Given the description of an element on the screen output the (x, y) to click on. 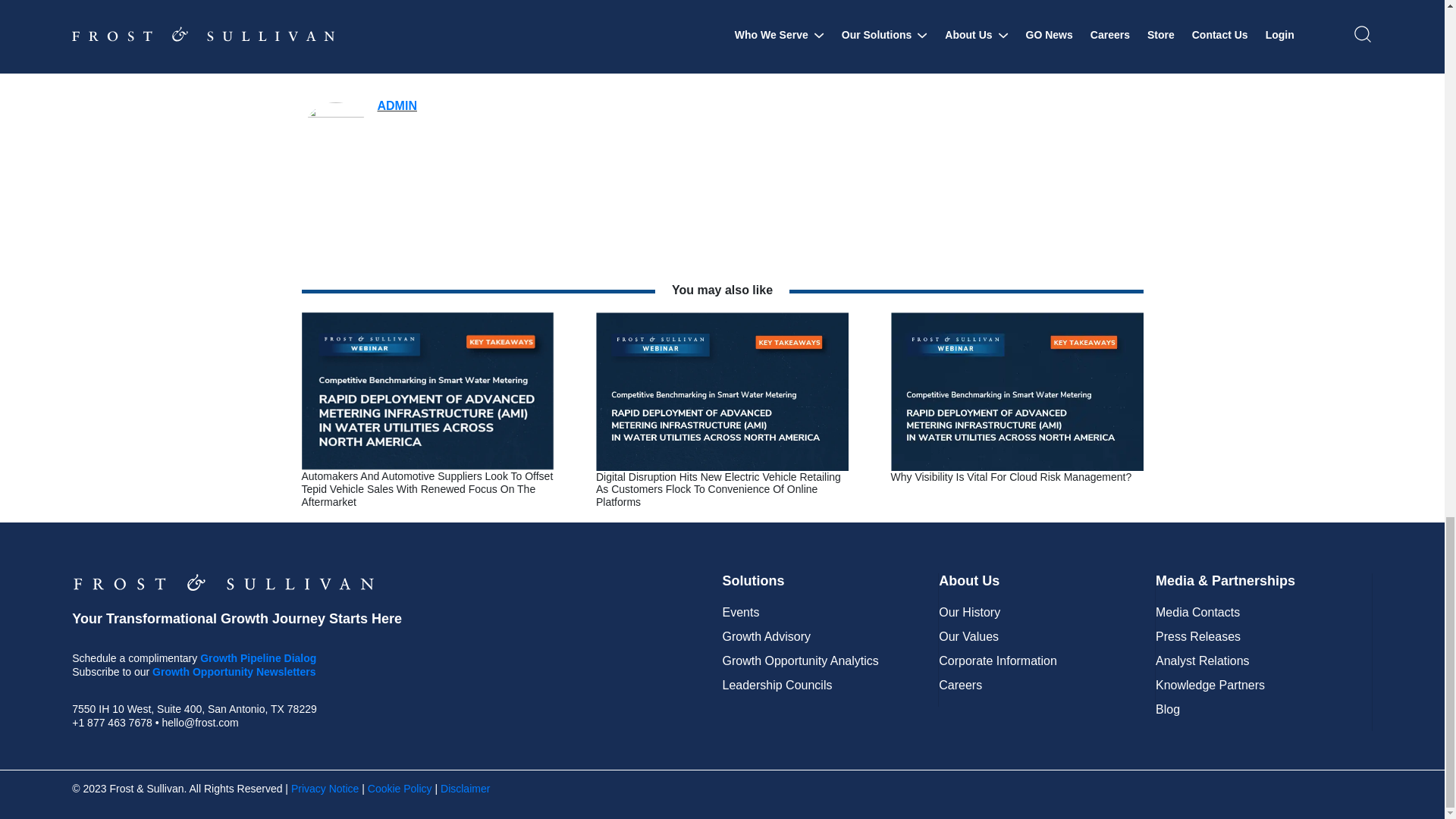
frostsullivanlogo (223, 581)
Why Visibility is Vital for Cloud Risk Management? (1015, 390)
Why Visibility is Vital for Cloud Risk Management? (1010, 476)
